Given the description of an element on the screen output the (x, y) to click on. 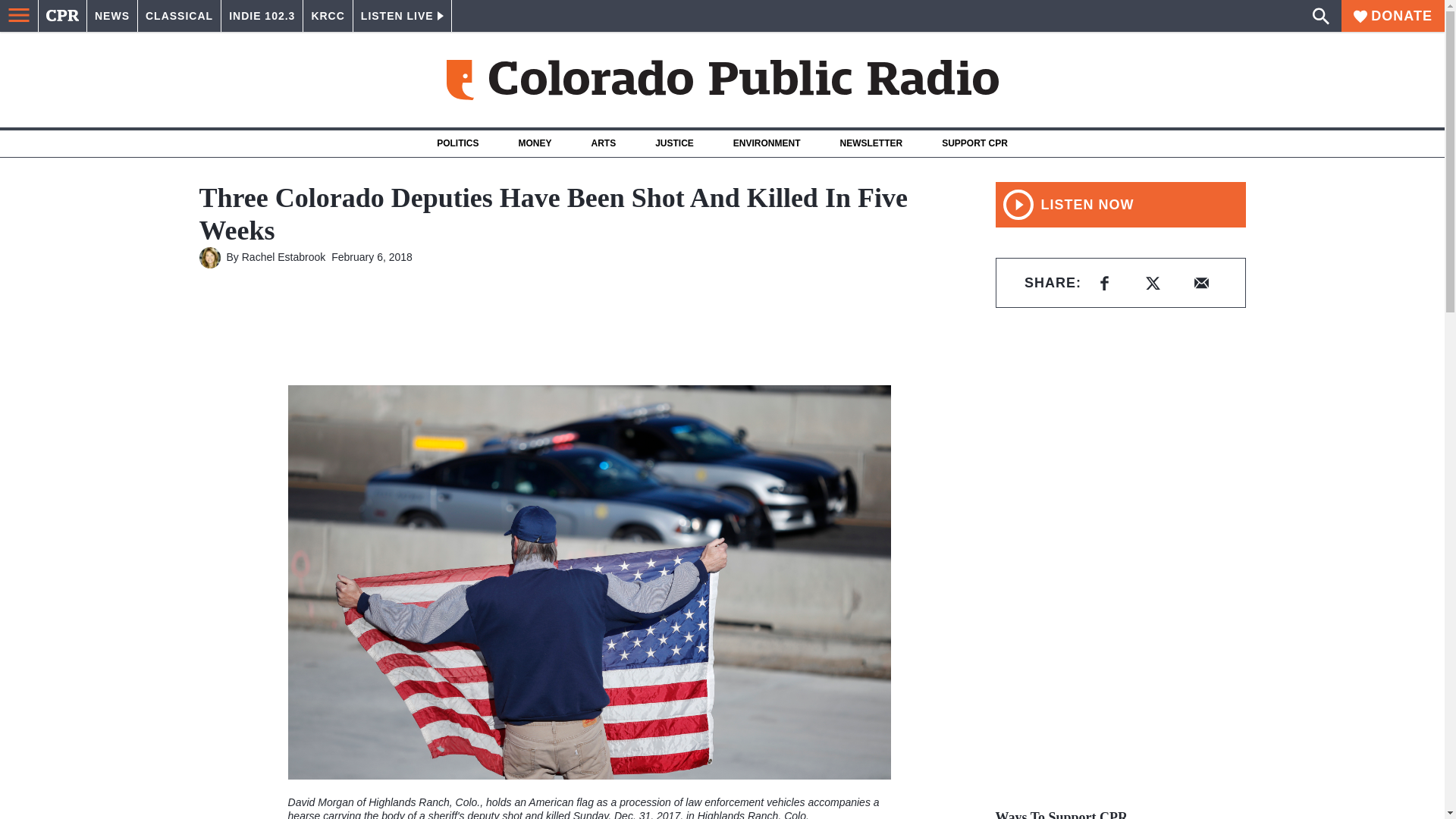
NEWS (111, 15)
INDIE 102.3 (261, 15)
CLASSICAL (179, 15)
LISTEN LIVE (402, 15)
KRCC (327, 15)
